Given the description of an element on the screen output the (x, y) to click on. 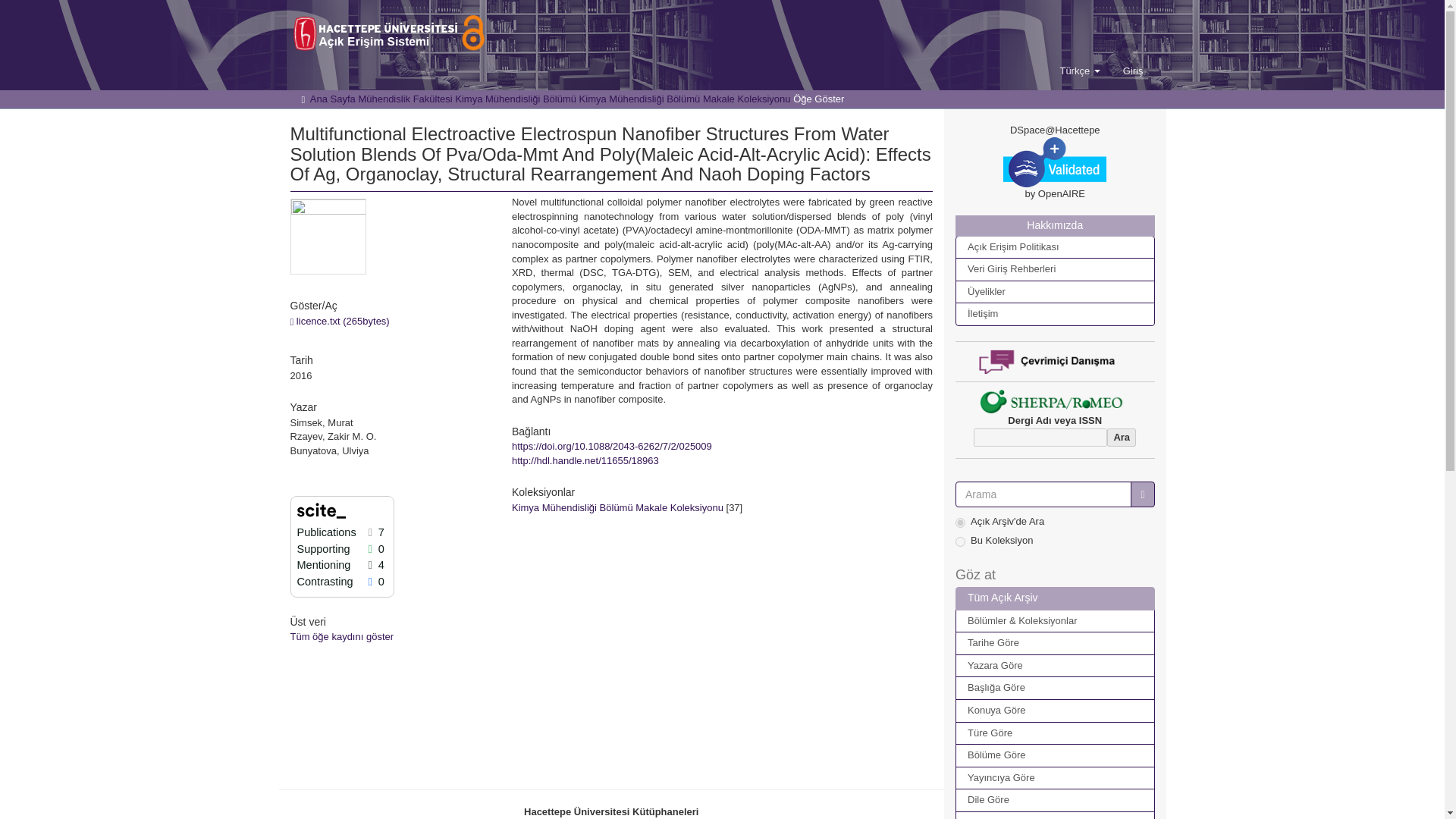
Ara (1120, 437)
Ana Sayfa (332, 98)
Bul (1142, 493)
